Given the description of an element on the screen output the (x, y) to click on. 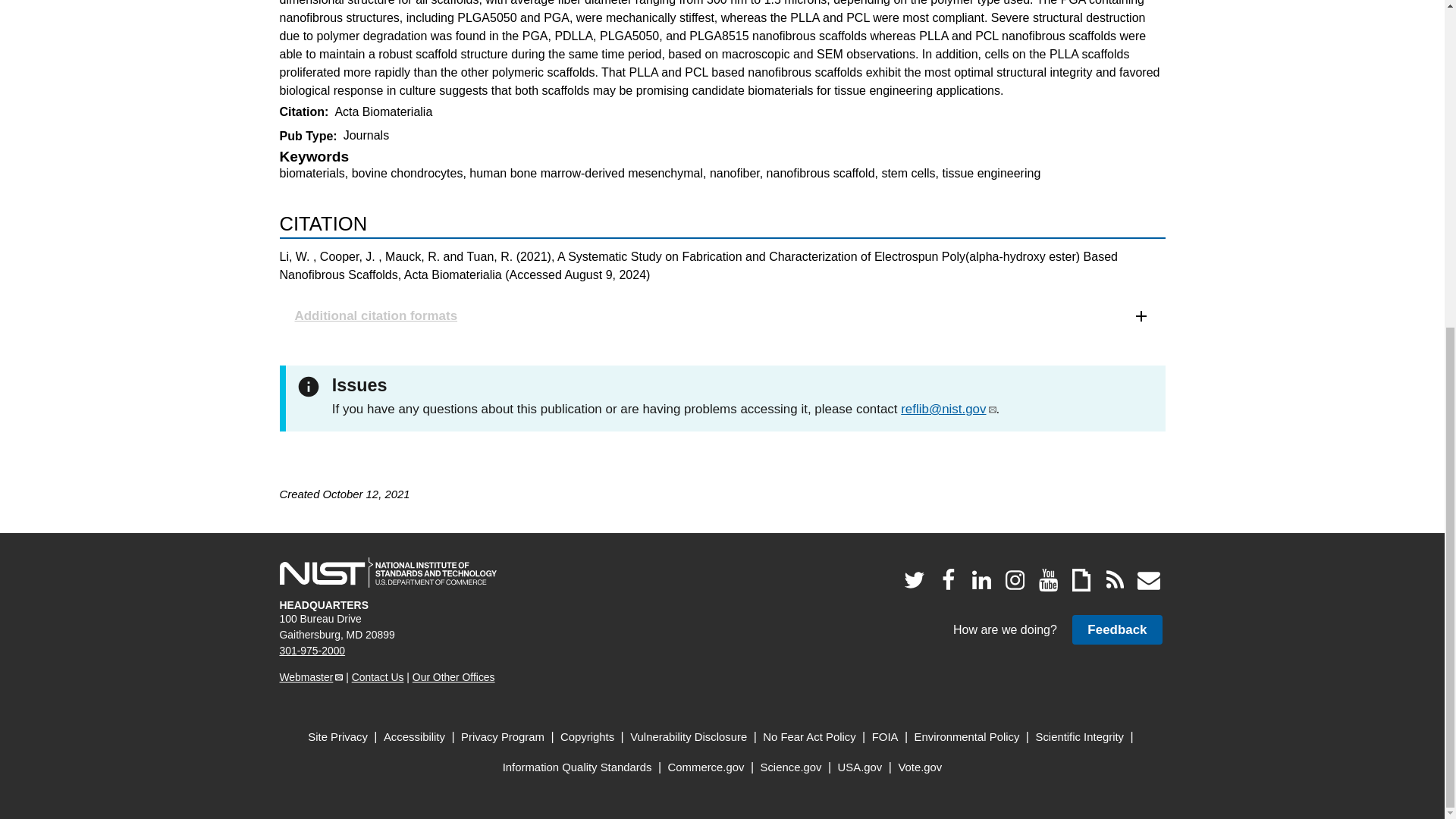
No Fear Act Policy (809, 736)
Accessibility (414, 736)
Provide feedback (1116, 629)
FOIA (885, 736)
Site Privacy (337, 736)
Vulnerability Disclosure (688, 736)
Additional citation formats (721, 315)
Privacy Program (502, 736)
301-975-2000 (312, 650)
Environmental Policy (967, 736)
